Given the description of an element on the screen output the (x, y) to click on. 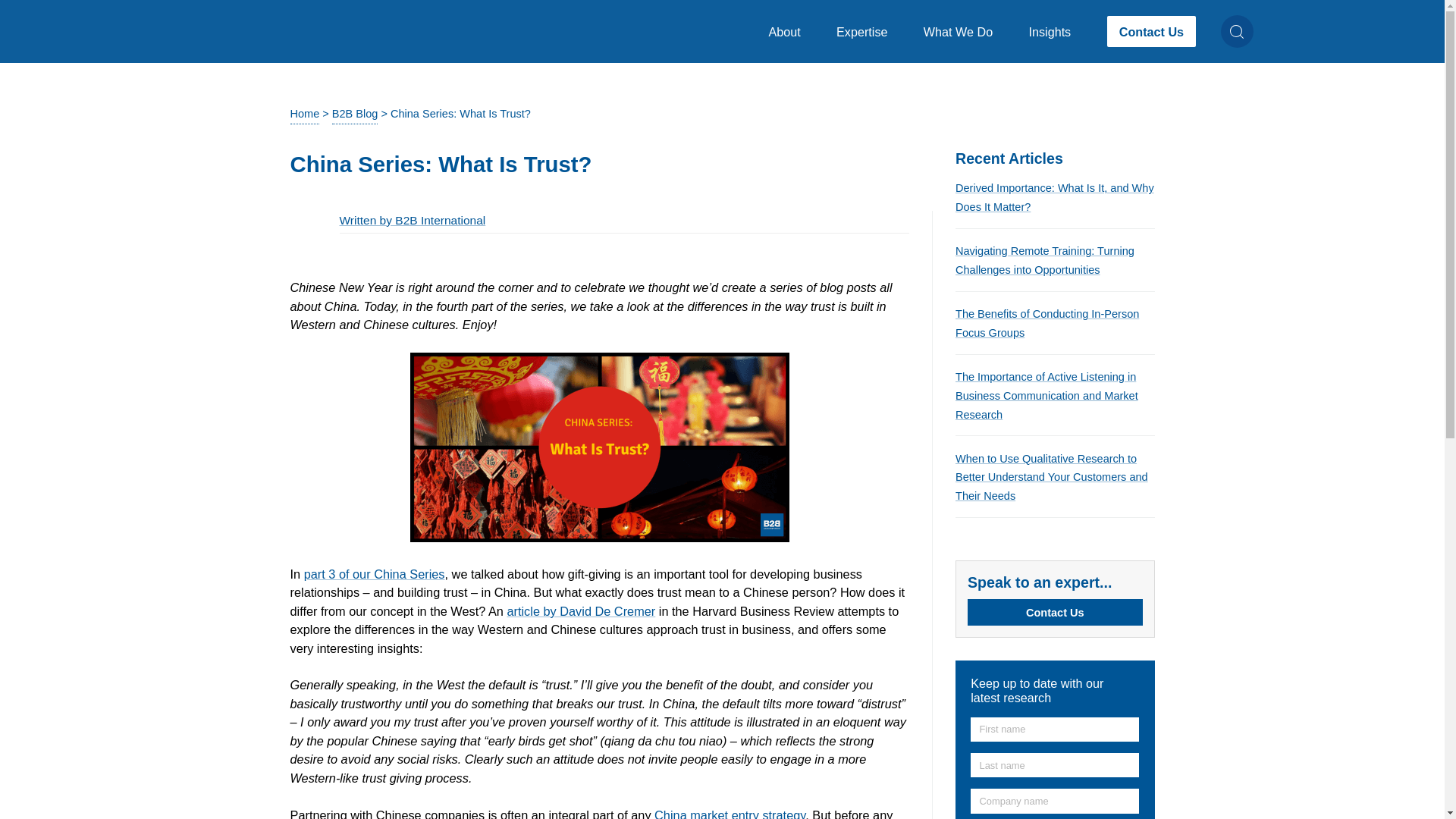
Expertise (866, 31)
What We Do (963, 31)
Insights (1056, 31)
Return to Homepage (239, 29)
Contact Us (1151, 30)
Understanding trust in China and the West (580, 611)
What We Do (1054, 599)
About (963, 31)
